Given the description of an element on the screen output the (x, y) to click on. 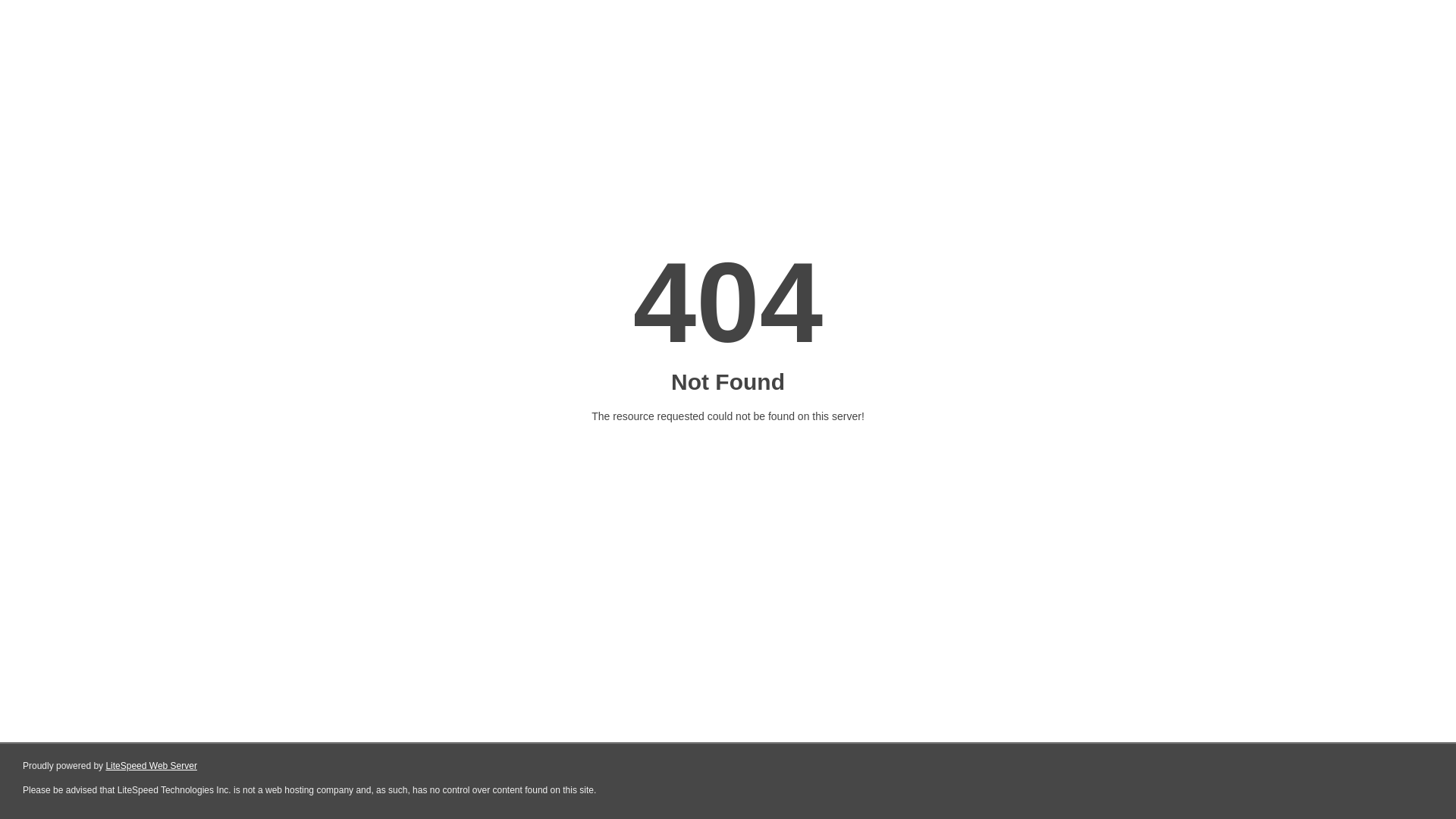
LiteSpeed Web Server Element type: text (151, 765)
